Given the description of an element on the screen output the (x, y) to click on. 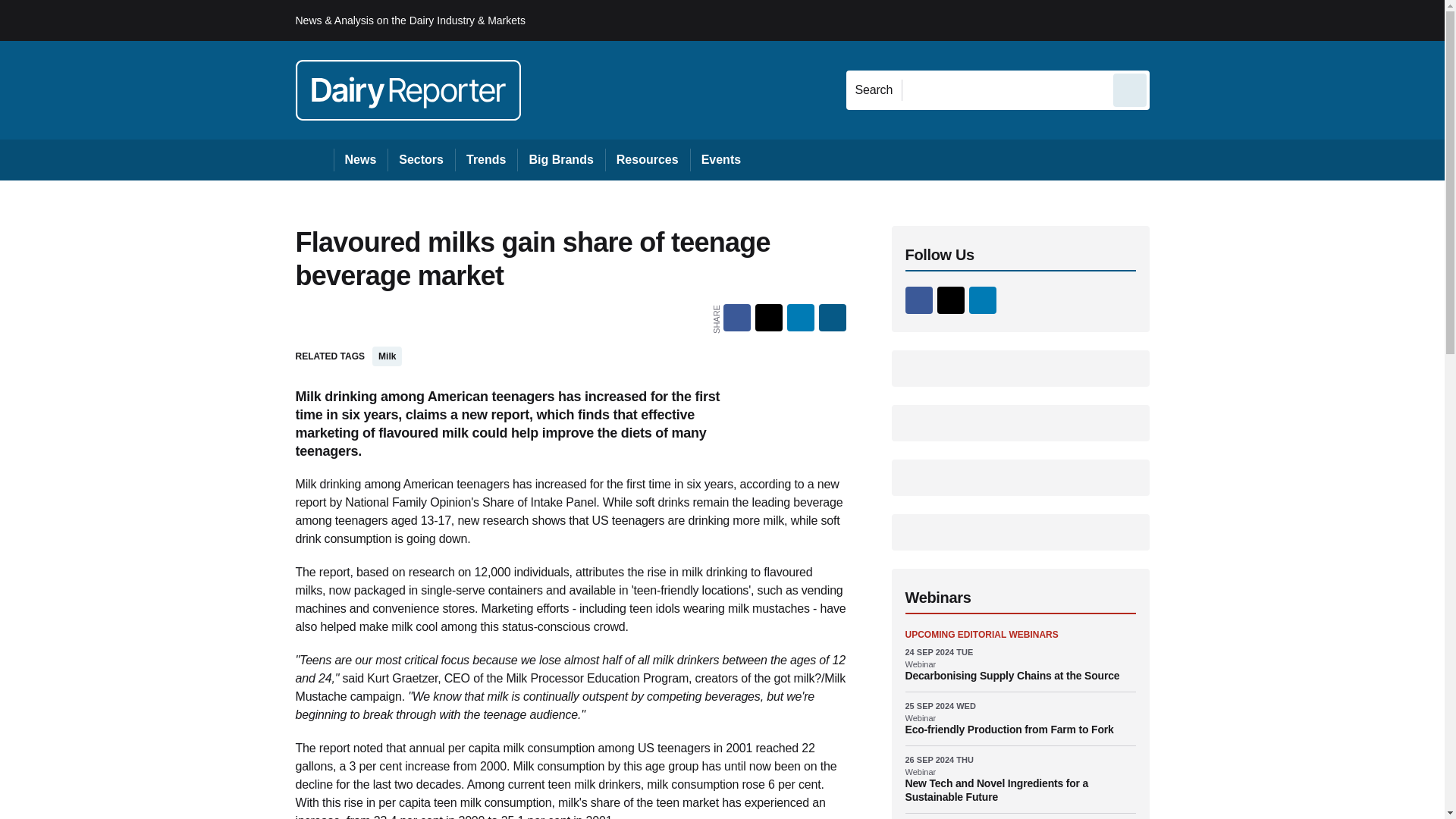
Home (314, 159)
Sign in (1171, 20)
Sectors (420, 159)
DairyReporter (408, 89)
Send (1129, 90)
Home (313, 159)
My account (1256, 20)
Send (1129, 89)
Sign out (1174, 20)
REGISTER (1250, 20)
